Given the description of an element on the screen output the (x, y) to click on. 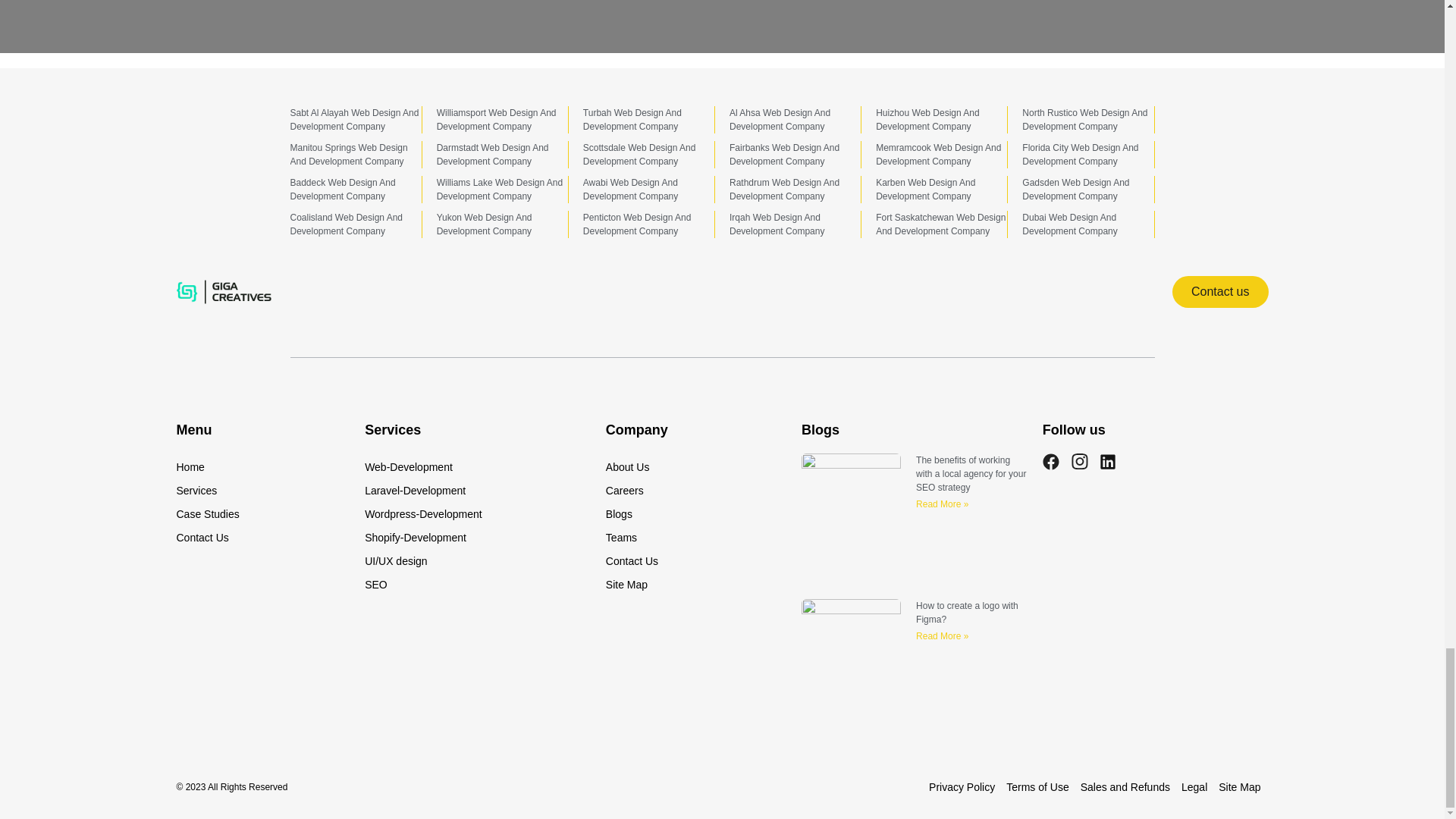
Manitou Springs Web Design And Development Company (348, 154)
Fairbanks Web Design And Development Company (784, 154)
Sabt Al Alayah Web Design And Development Company (354, 119)
Darmstadt Web Design And Development Company (492, 154)
Al Ahsa Web Design And Development Company (779, 119)
North Rustico Web Design And Development Company (1084, 119)
Scottsdale Web Design And Development Company (639, 154)
Huizhou Web Design And Development Company (927, 119)
Turbah Web Design And Development Company (632, 119)
Williamsport Web Design And Development Company (496, 119)
